Given the description of an element on the screen output the (x, y) to click on. 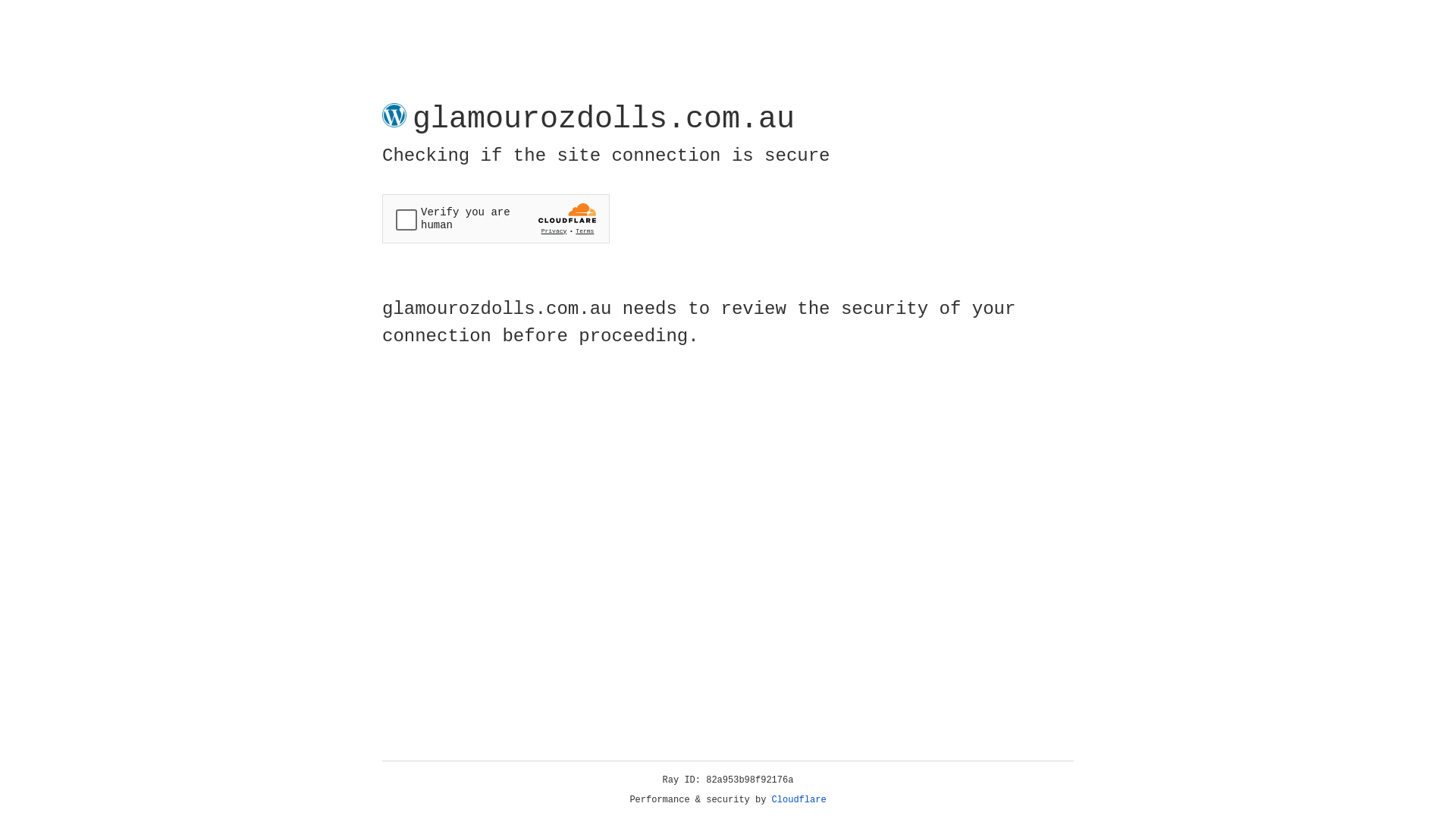
Cloudflare Element type: text (798, 799)
Widget containing a Cloudflare security challenge Element type: hover (495, 218)
